Given the description of an element on the screen output the (x, y) to click on. 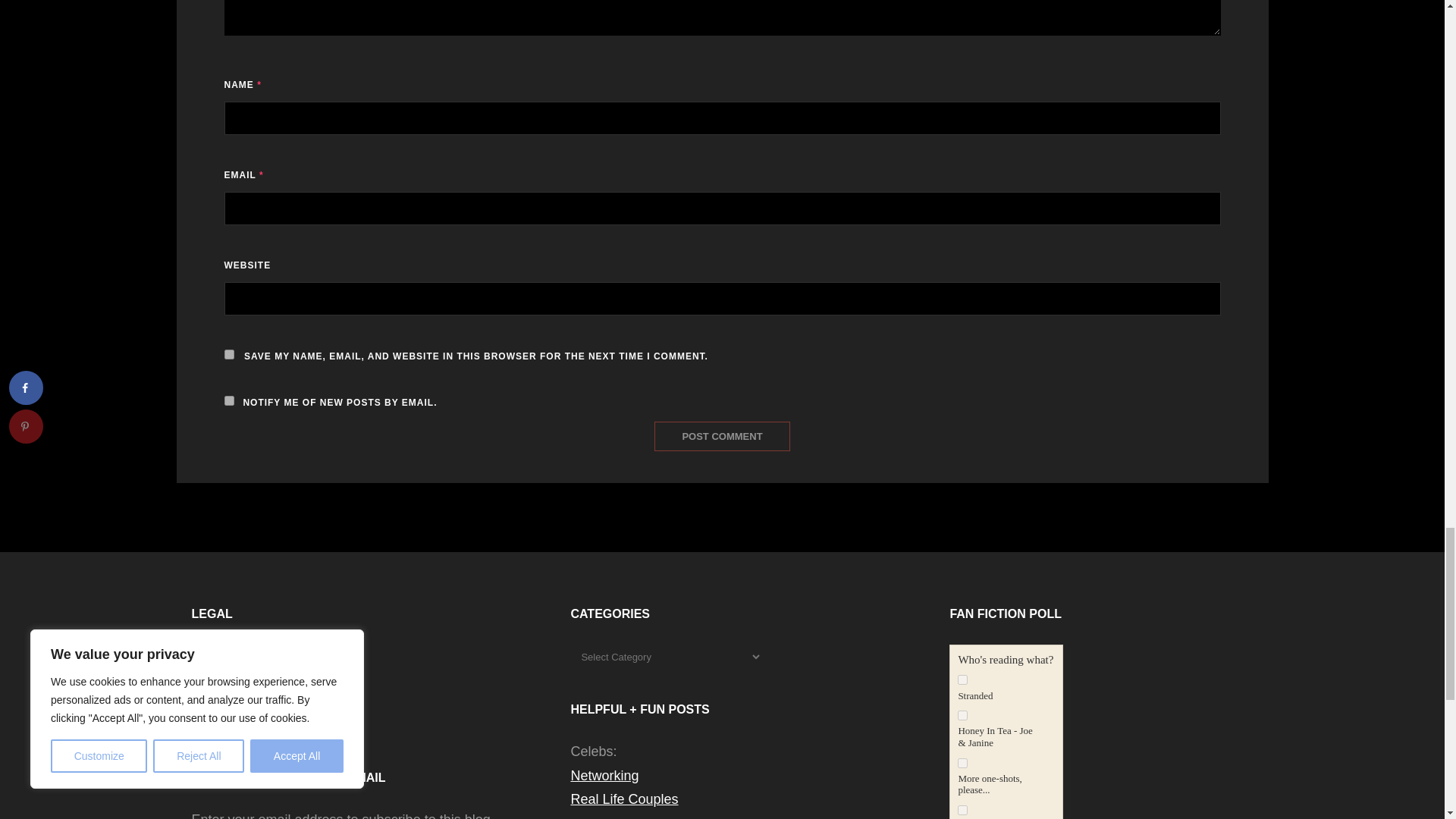
23846120 (963, 763)
Post Comment (721, 436)
26941973 (963, 715)
subscribe (229, 400)
37562296 (963, 809)
36806373 (963, 679)
yes (229, 354)
